Given the description of an element on the screen output the (x, y) to click on. 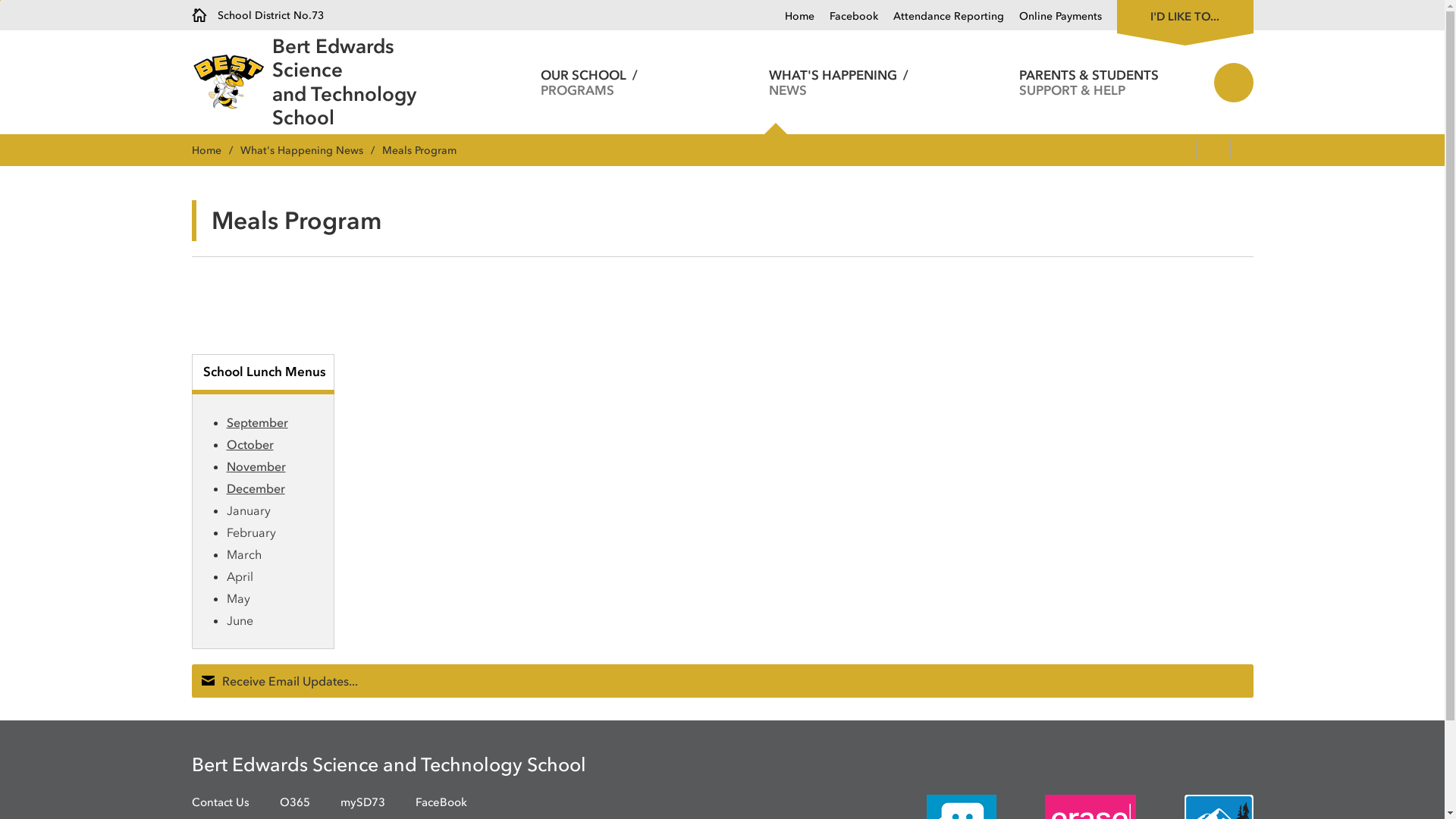
Default text size Element type: hover (1162, 150)
School District No.73 Element type: text (257, 15)
mySD73 Element type: text (361, 802)
O365 Element type: text (294, 802)
Contact Us Element type: text (219, 802)
September Element type: text (256, 421)
Print This Page Element type: hover (1212, 150)
  Element type: text (1245, 150)
November Element type: text (255, 465)
Online Payments Element type: text (1052, 15)
I'D LIKE TO... Element type: text (1184, 15)
October Element type: text (249, 443)
OUR SCHOOL
PROGRAMS Element type: text (588, 82)
Search Element type: text (1232, 81)
Click to return to the homepage Element type: hover (231, 82)
Receive Email Updates... Element type: text (721, 680)
Home Element type: text (798, 15)
Decrease text size Element type: hover (1146, 150)
Skip to Content Element type: text (0, 0)
Increase text size Element type: hover (1181, 150)
Facebook Element type: text (846, 15)
PARENTS & STUDENTS
SUPPORT & HELP Element type: text (1088, 82)
FaceBook Element type: text (441, 802)
Attendance Reporting Element type: text (941, 15)
WHAT'S HAPPENING
NEWS Element type: text (838, 82)
Bert Edwards Science
and Technology School Element type: text (368, 82)
December Element type: text (254, 487)
Home Element type: text (215, 150)
What's Happening News Element type: text (310, 150)
